Given the description of an element on the screen output the (x, y) to click on. 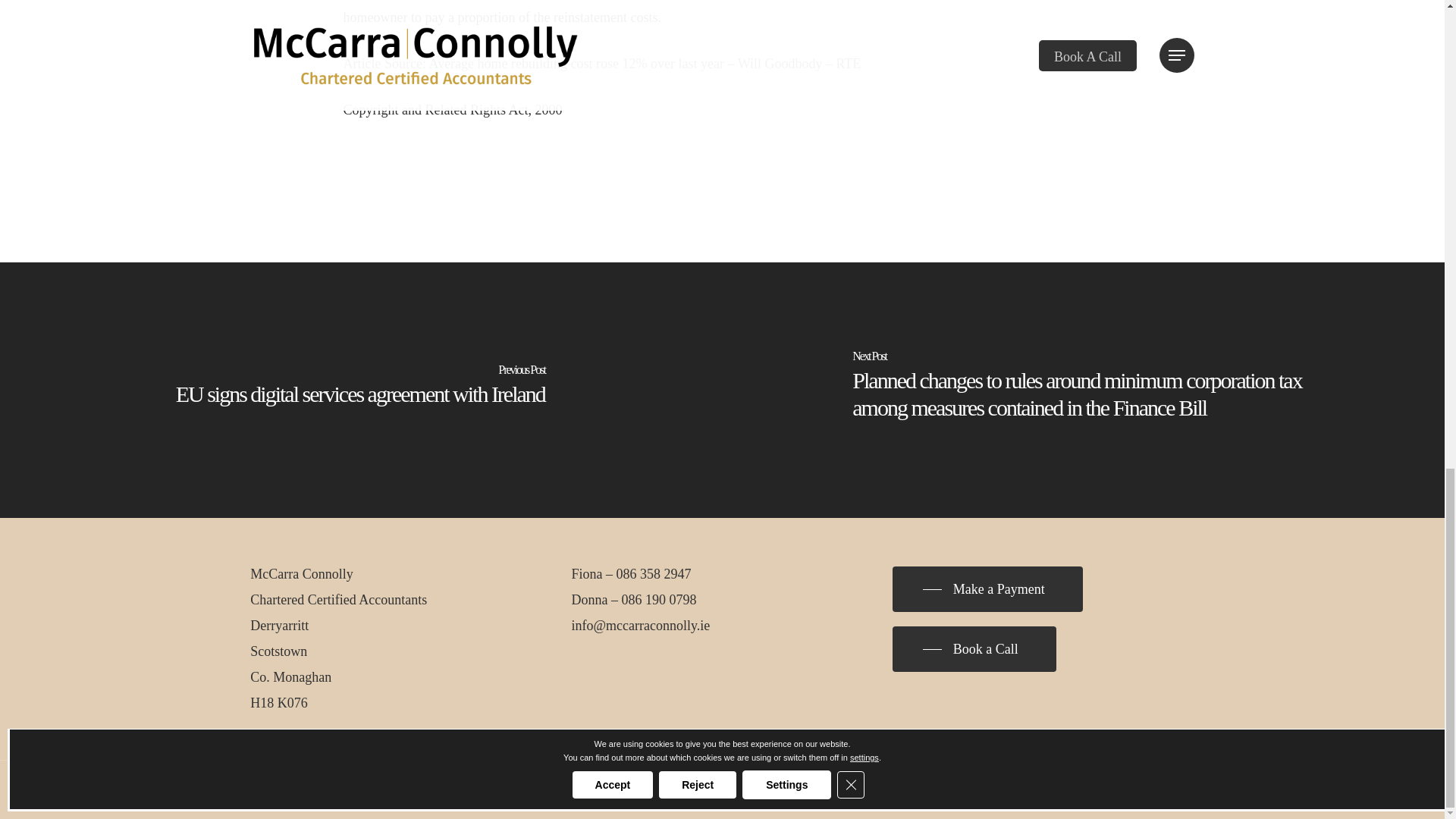
Book a Call (974, 648)
Privacy (505, 790)
Cookies (580, 790)
Copyright and Related Rights Act, 2000 (452, 109)
086 190 0798 (659, 599)
Terms (542, 790)
PracticeNet (638, 790)
Make a Payment (987, 588)
086 358 2947 (653, 573)
